Given the description of an element on the screen output the (x, y) to click on. 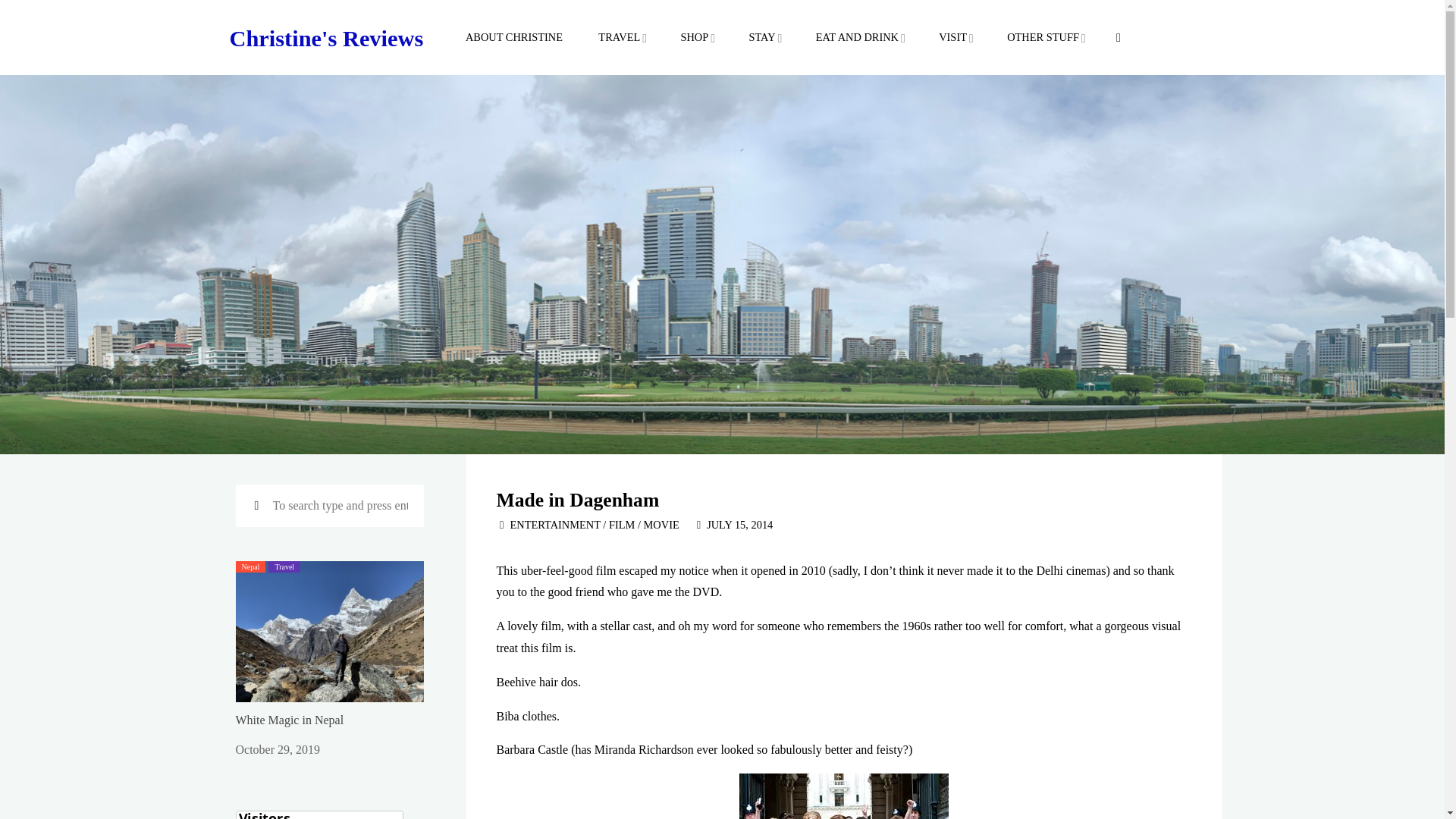
White Magic in Nepal (288, 719)
A Quick Word About Christine (513, 37)
White Magic in Nepal (328, 630)
